Given the description of an element on the screen output the (x, y) to click on. 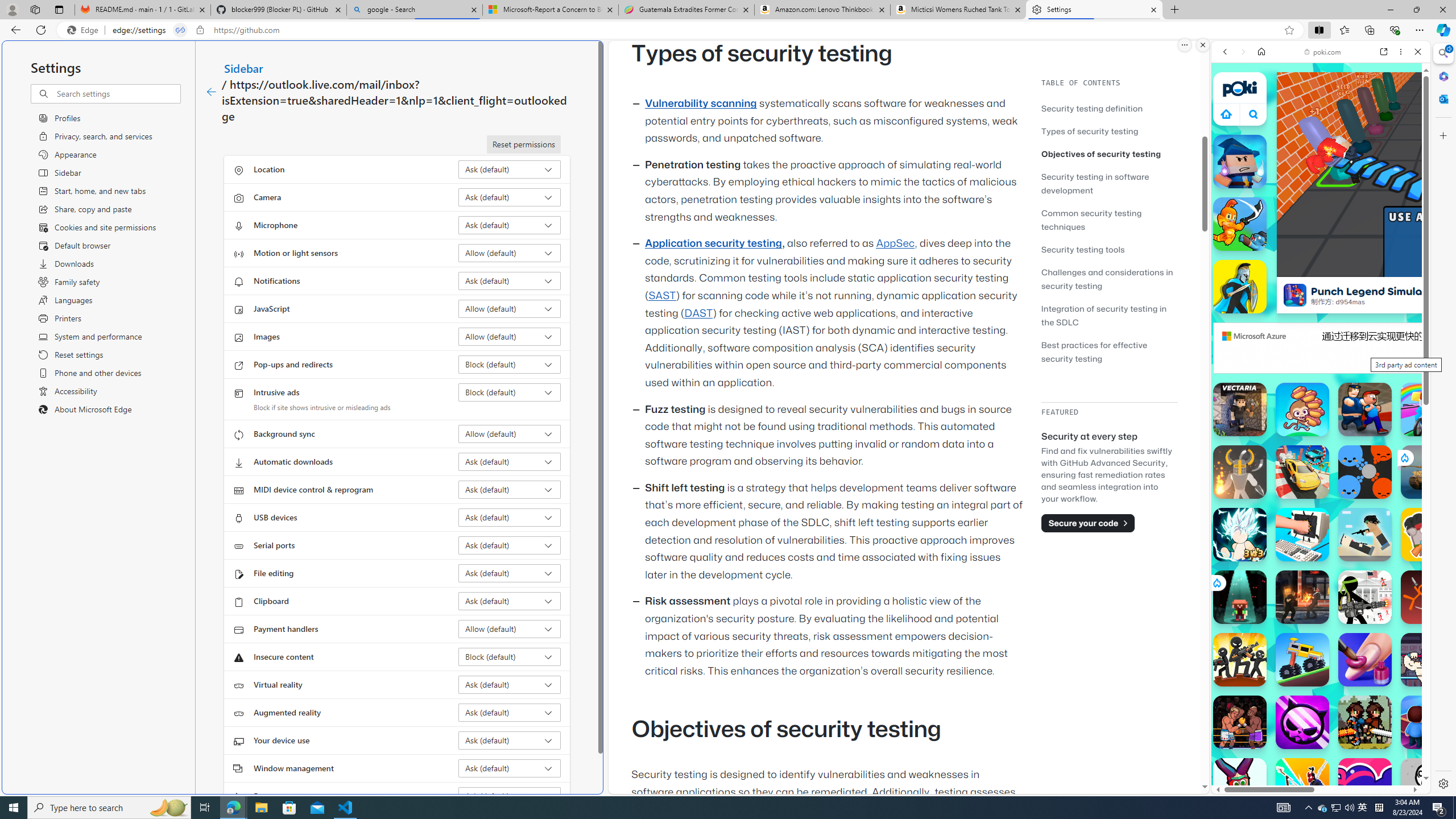
Fury Wars (1302, 722)
Car Games (1320, 267)
Crazy Cars Crazy Cars (1302, 471)
Nails DIY: Manicure Master (1364, 659)
Show More Shooting Games (1390, 296)
Vulnerability scanning (701, 103)
Rooftop Snipers (1364, 534)
Bacon May Die (1427, 534)
Combat Reloaded (1349, 523)
Apple Knight: Fight Apple Knight: Fight (1364, 722)
Reset permissions (523, 144)
